Given the description of an element on the screen output the (x, y) to click on. 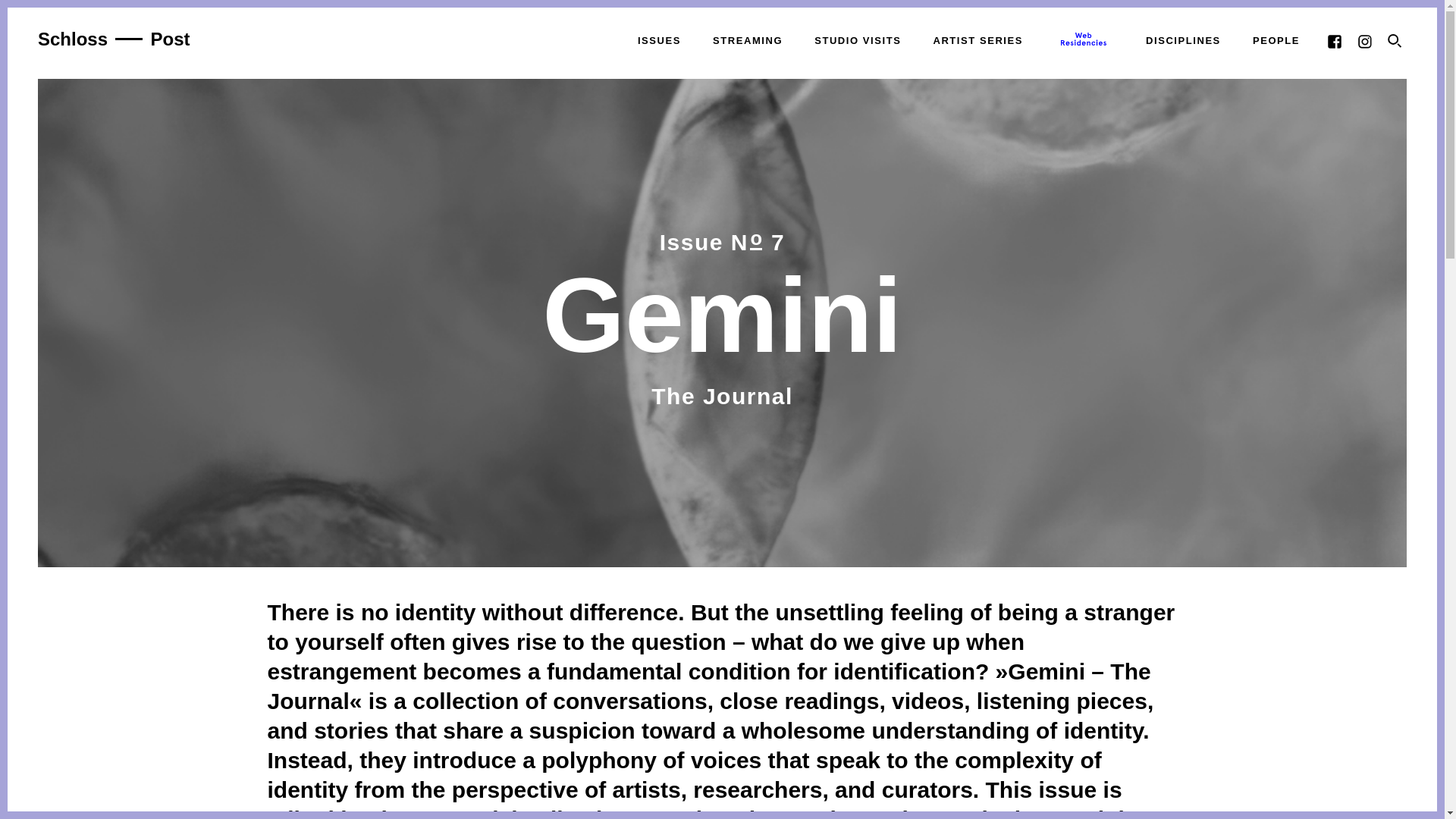
ISSUES (658, 40)
STREAMING (746, 40)
search (1395, 40)
DISCIPLINES (1182, 40)
ARTIST SERIES (977, 40)
Facebook (1334, 39)
Instagram (1364, 39)
PEOPLE (1275, 40)
STUDIO VISITS (856, 40)
Schloss Post (113, 38)
